Given the description of an element on the screen output the (x, y) to click on. 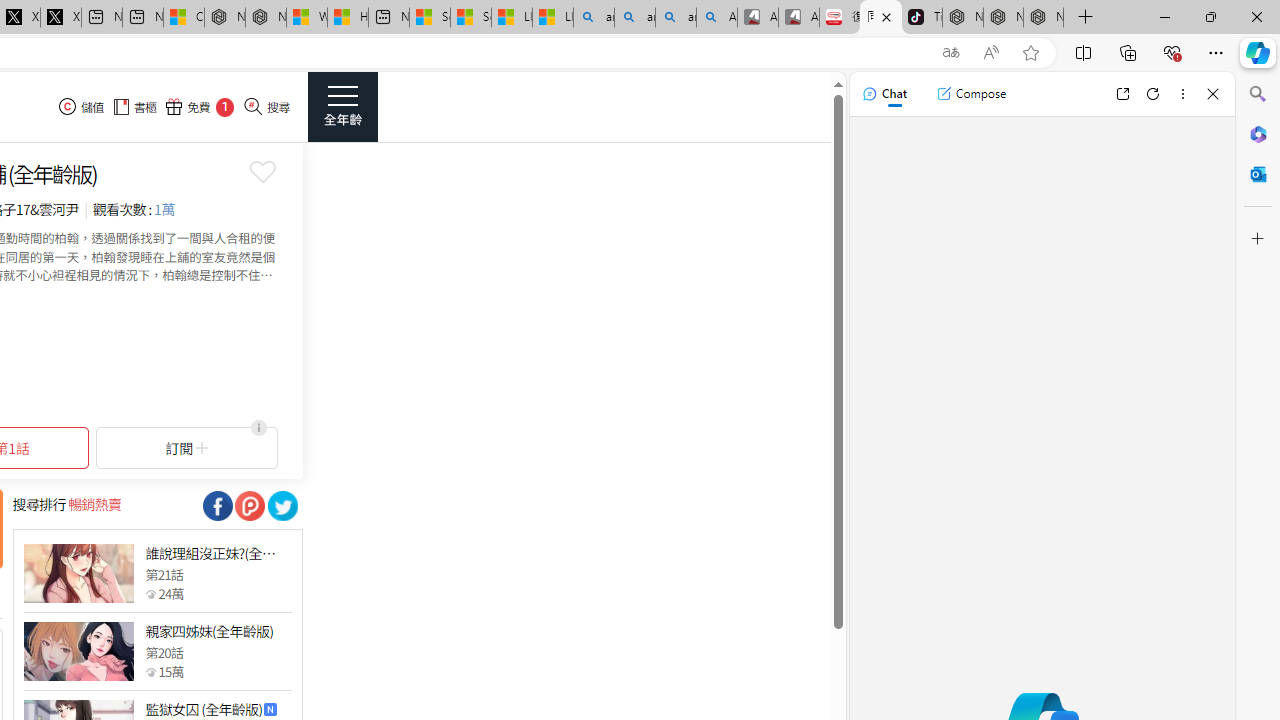
Chat (884, 93)
Show translate options (950, 53)
Nordace Siena Pro 15 Backpack (1003, 17)
Compose (971, 93)
Class: thumb_img (78, 651)
Customize (1258, 239)
